Given the description of an element on the screen output the (x, y) to click on. 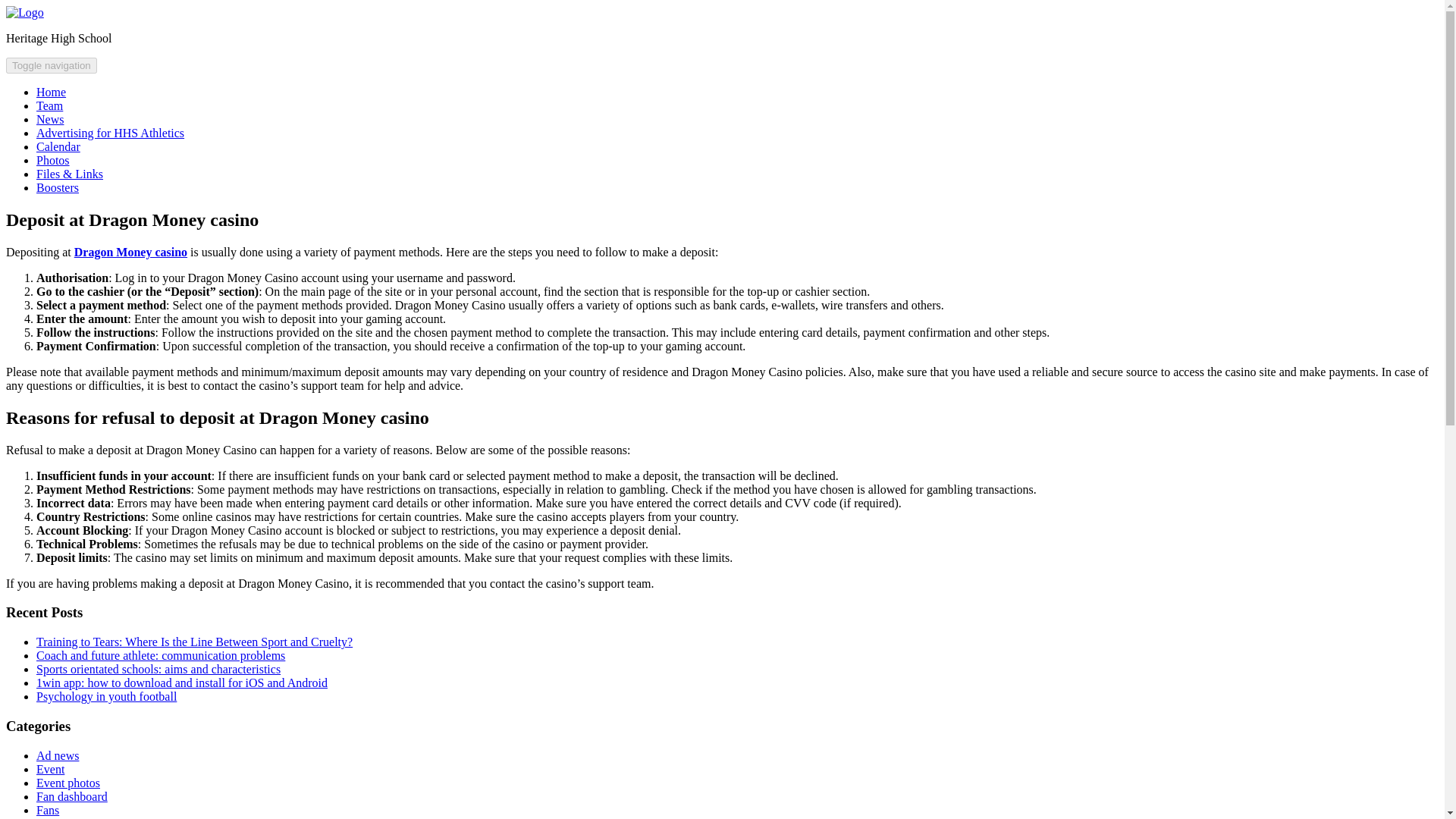
Advertising for HHS Athletics (110, 132)
Calendar (58, 146)
Dragon Money casino (130, 251)
1win app: how to download and install for iOS and Android (181, 682)
Home (50, 91)
Event photos (68, 782)
Event (50, 768)
Photos (52, 160)
Team (49, 105)
